Given the description of an element on the screen output the (x, y) to click on. 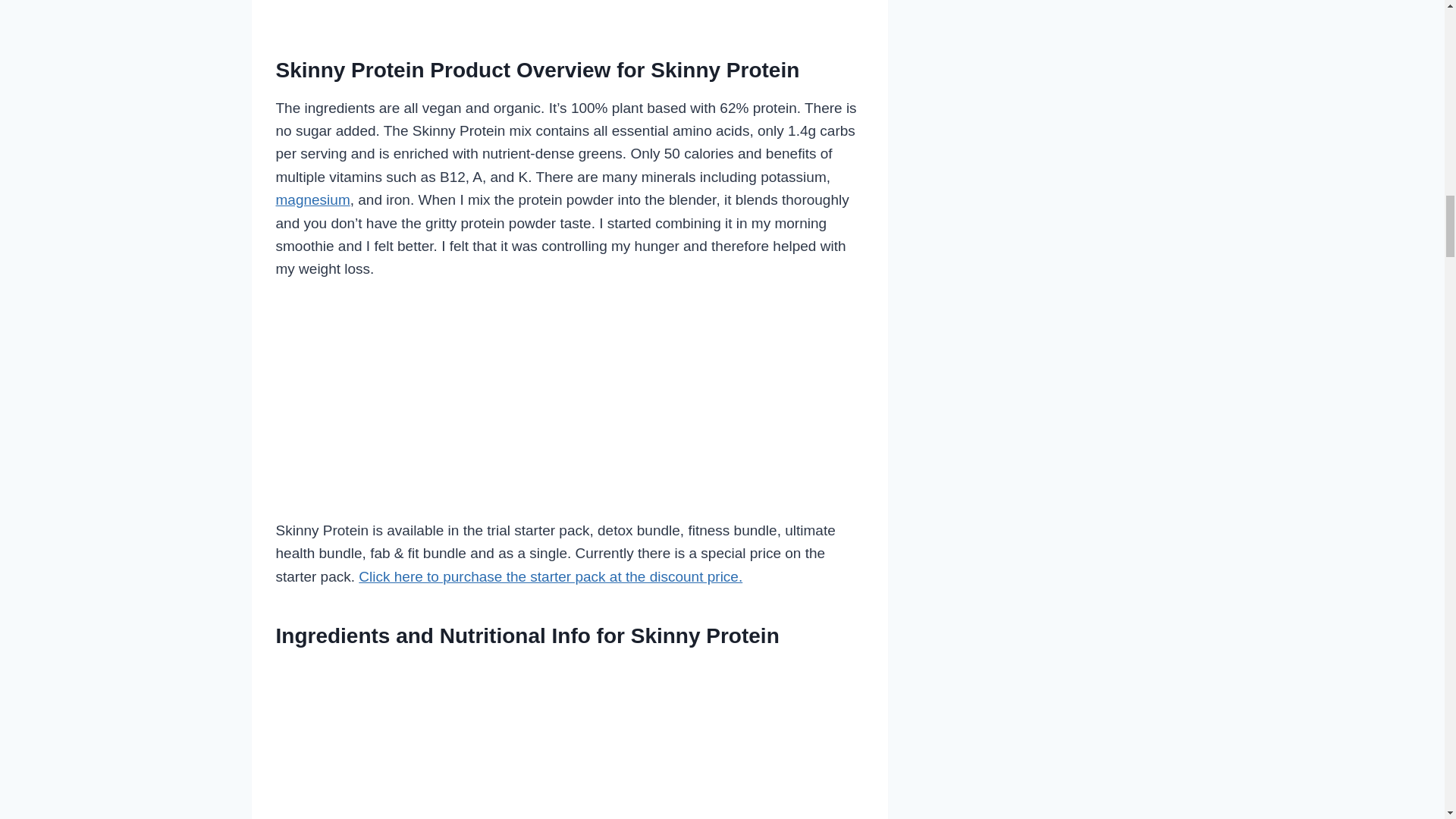
magnesium (313, 199)
